Given the description of an element on the screen output the (x, y) to click on. 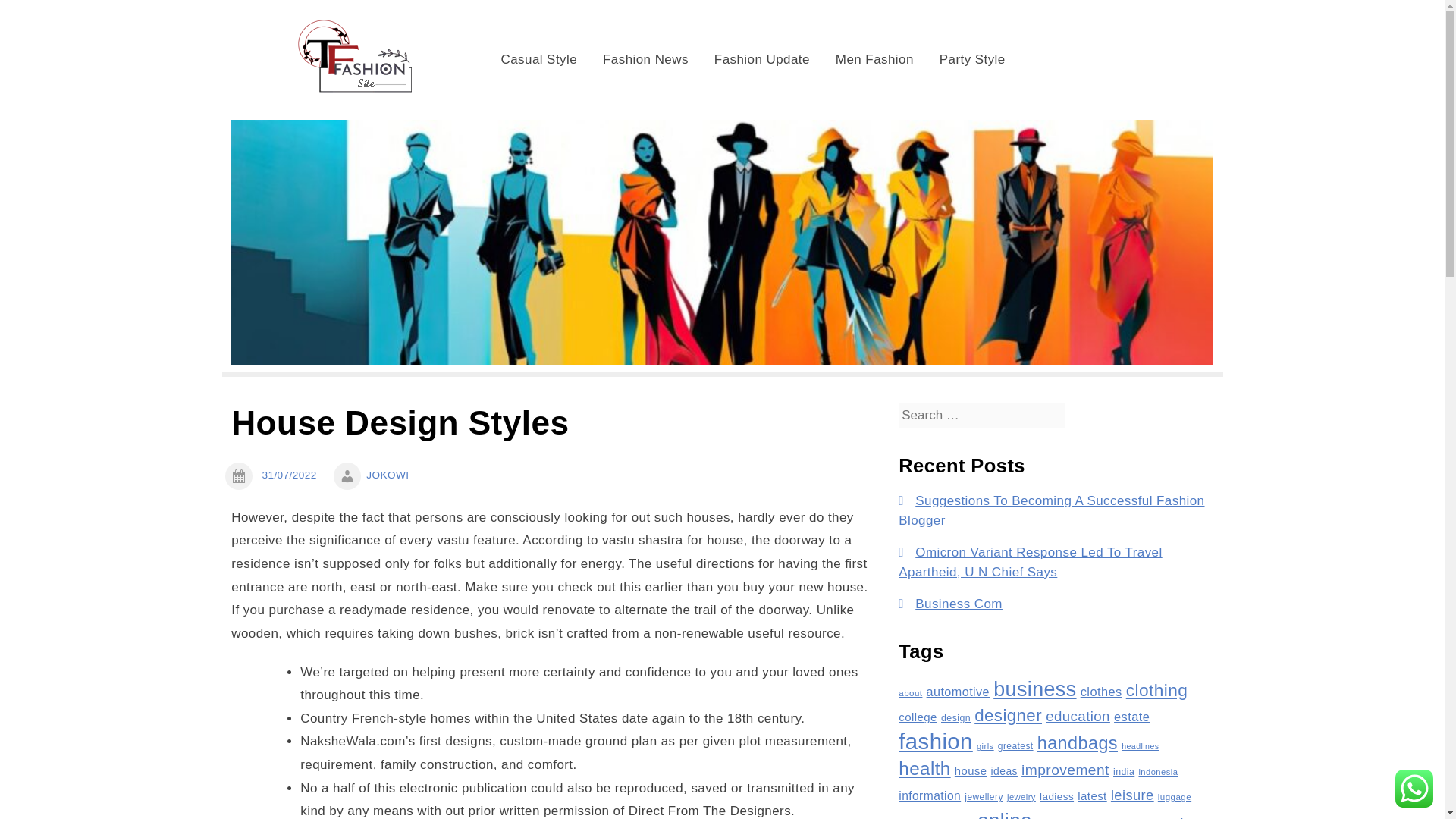
fashion (935, 740)
clothing (1156, 690)
estate (1131, 716)
designer (1008, 714)
education (1077, 715)
college (917, 716)
business (1033, 689)
TF (487, 29)
JOKOWI (387, 474)
clothes (1101, 691)
